Given the description of an element on the screen output the (x, y) to click on. 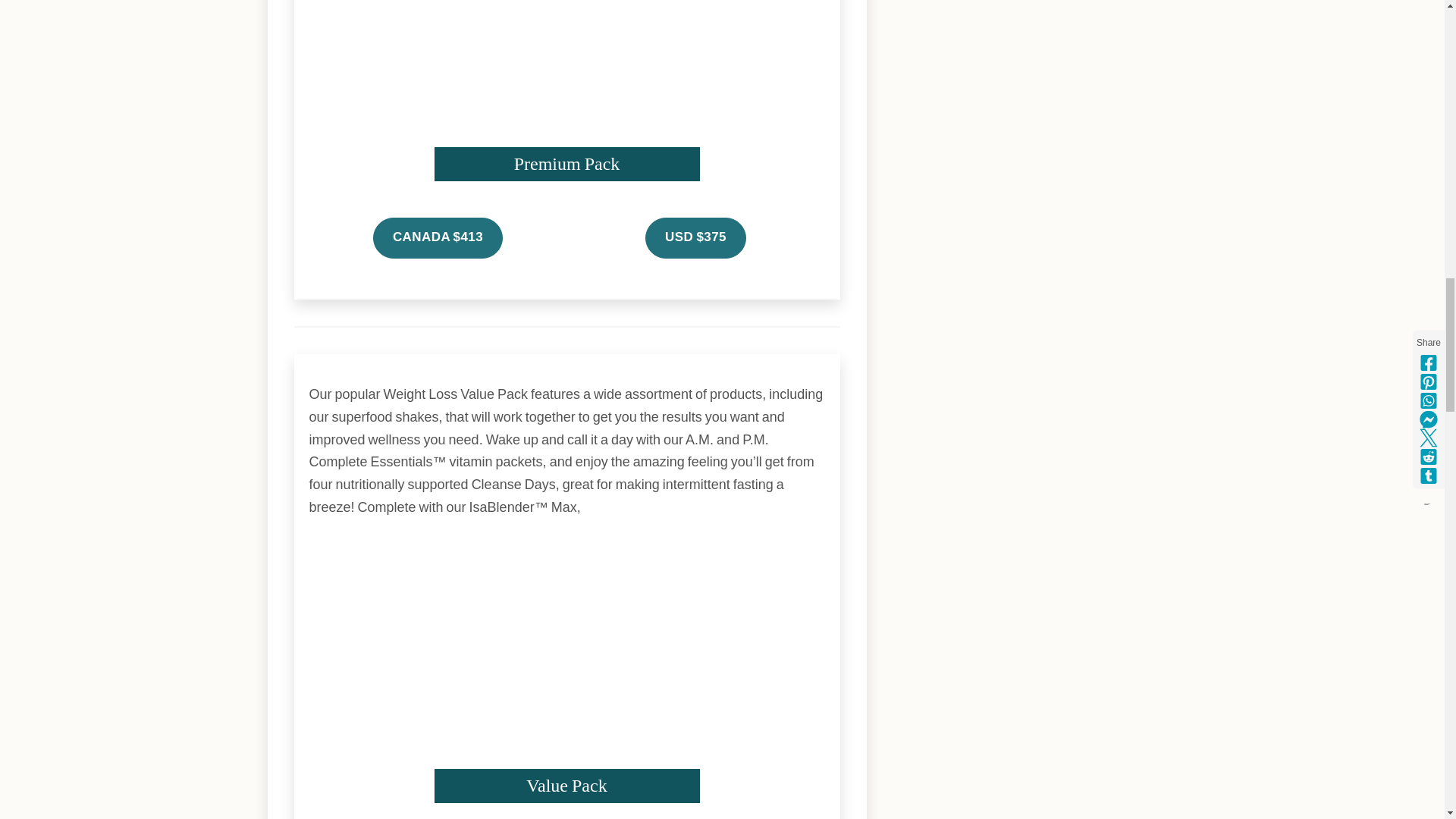
Isagenix Weight Loss Value Pack (565, 670)
Isagenix Premium Pack (565, 90)
